Given the description of an element on the screen output the (x, y) to click on. 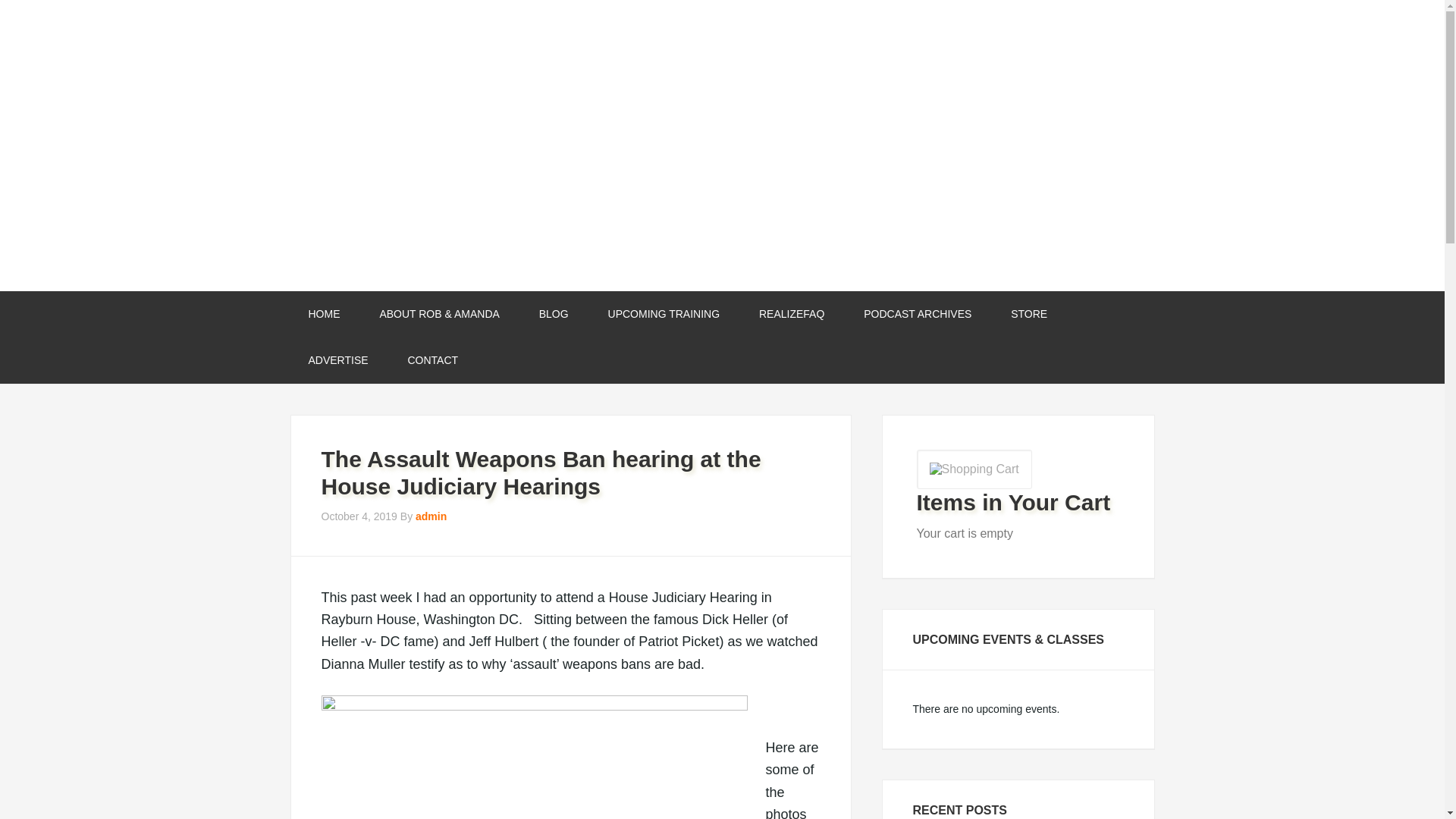
ADVERTISE (337, 360)
admin (430, 516)
HOME (323, 314)
CONTACT (433, 360)
STORE (1028, 314)
BLOG (553, 314)
Shopping Cart (972, 468)
PODCAST ARCHIVES (917, 314)
UPCOMING TRAINING (663, 314)
